Given the description of an element on the screen output the (x, y) to click on. 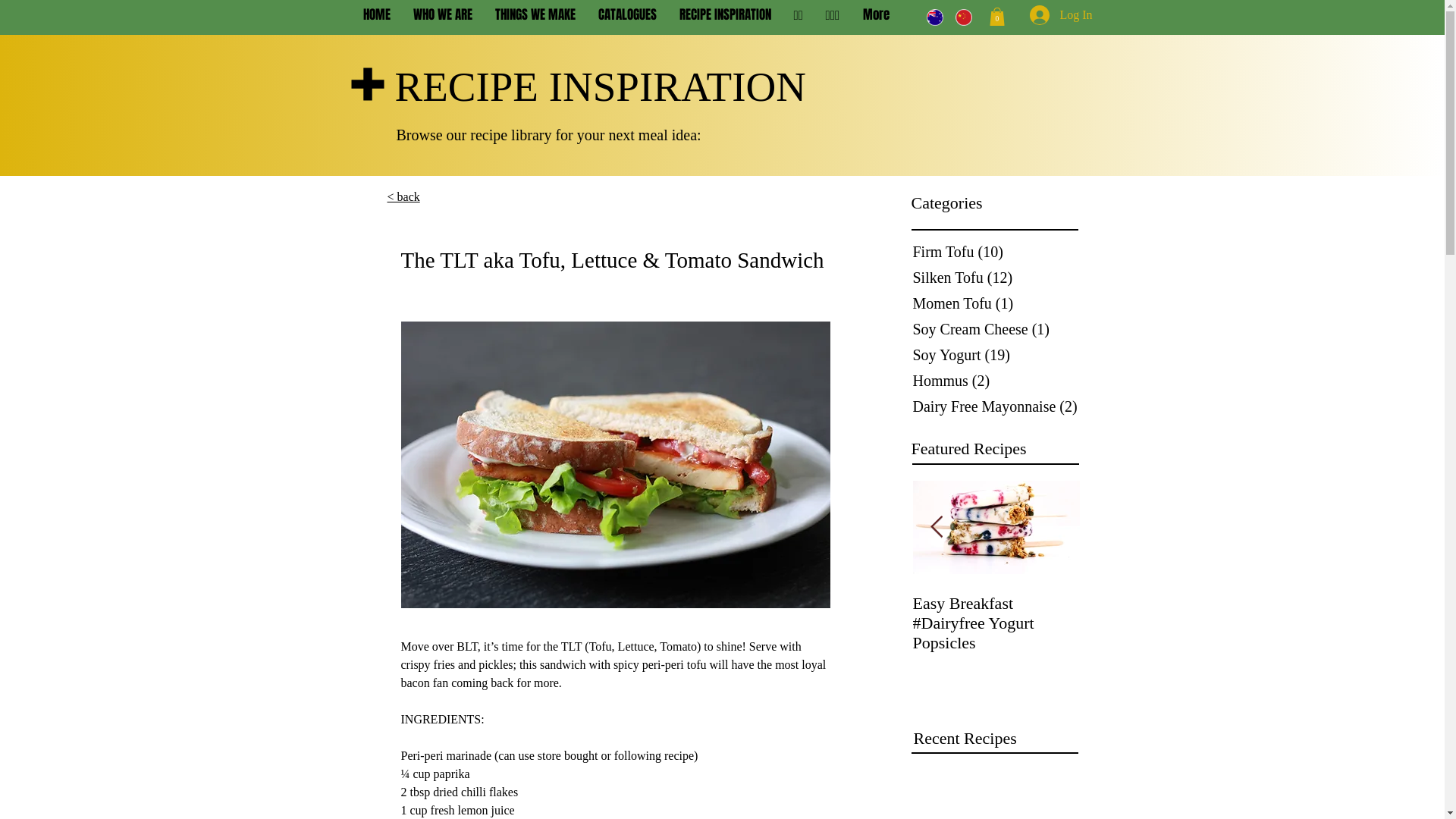
HOME Element type: text (376, 15)
RECIPE INSPIRATION Element type: text (724, 15)
0 Element type: text (996, 16)
< back Element type: text (402, 196)
THINGS WE MAKE Element type: text (534, 15)
Momen Tofu (1) Element type: text (997, 303)
Hommus (2) Element type: text (997, 380)
WHO WE ARE Element type: text (442, 15)
Soy Yogurt (19) Element type: text (997, 354)
Silken Tofu (12) Element type: text (997, 277)
Vegan Chocolate Cream Pie Element type: text (161, 613)
Tofu Rice Paper Rolls Element type: text (829, 603)
CATALOGUES Element type: text (627, 15)
Lime and Vanilla Vegan Cheesecake Element type: text (328, 613)
Dairy Free Mayonnaise (2) Element type: text (997, 406)
Soy Cream Cheese (1) Element type: text (997, 329)
Easy Breakfast #Dairyfree Yogurt Popsicles Element type: text (996, 622)
Firm Tofu (10) Element type: text (997, 251)
Pumpkin Frozen Yogurt with Candied Pecans Element type: text (662, 613)
Log In Element type: text (1039, 14)
